Given the description of an element on the screen output the (x, y) to click on. 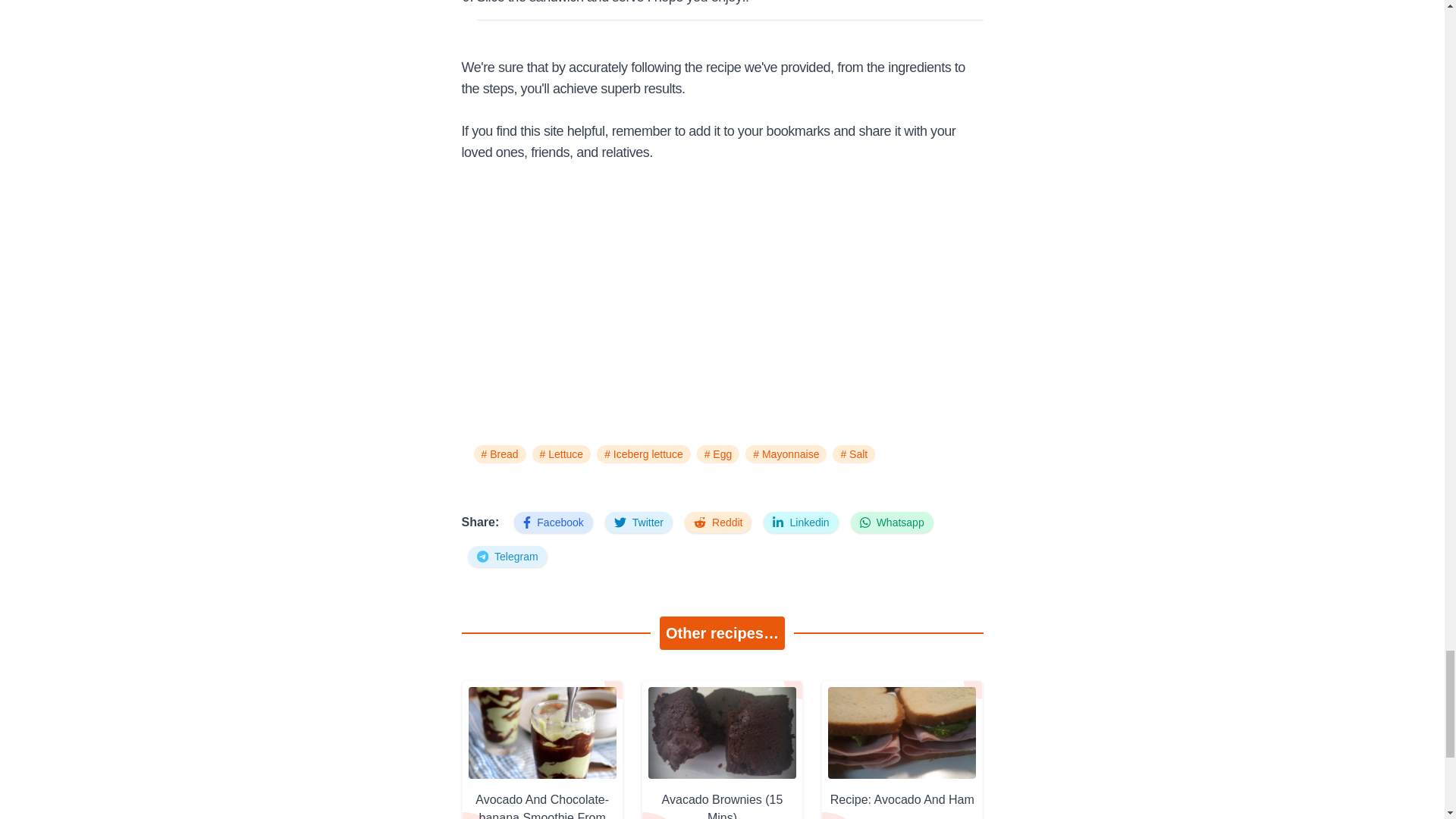
Facebook (552, 522)
Share this post to facebook (552, 522)
Whatsapp (891, 522)
Share this post to reddit (717, 522)
Share this post to twitter (638, 522)
Linkedin (800, 522)
Reddit (717, 522)
Recipe: Avocado And Ham (901, 799)
Twitter (638, 522)
Telegram (507, 556)
